Given the description of an element on the screen output the (x, y) to click on. 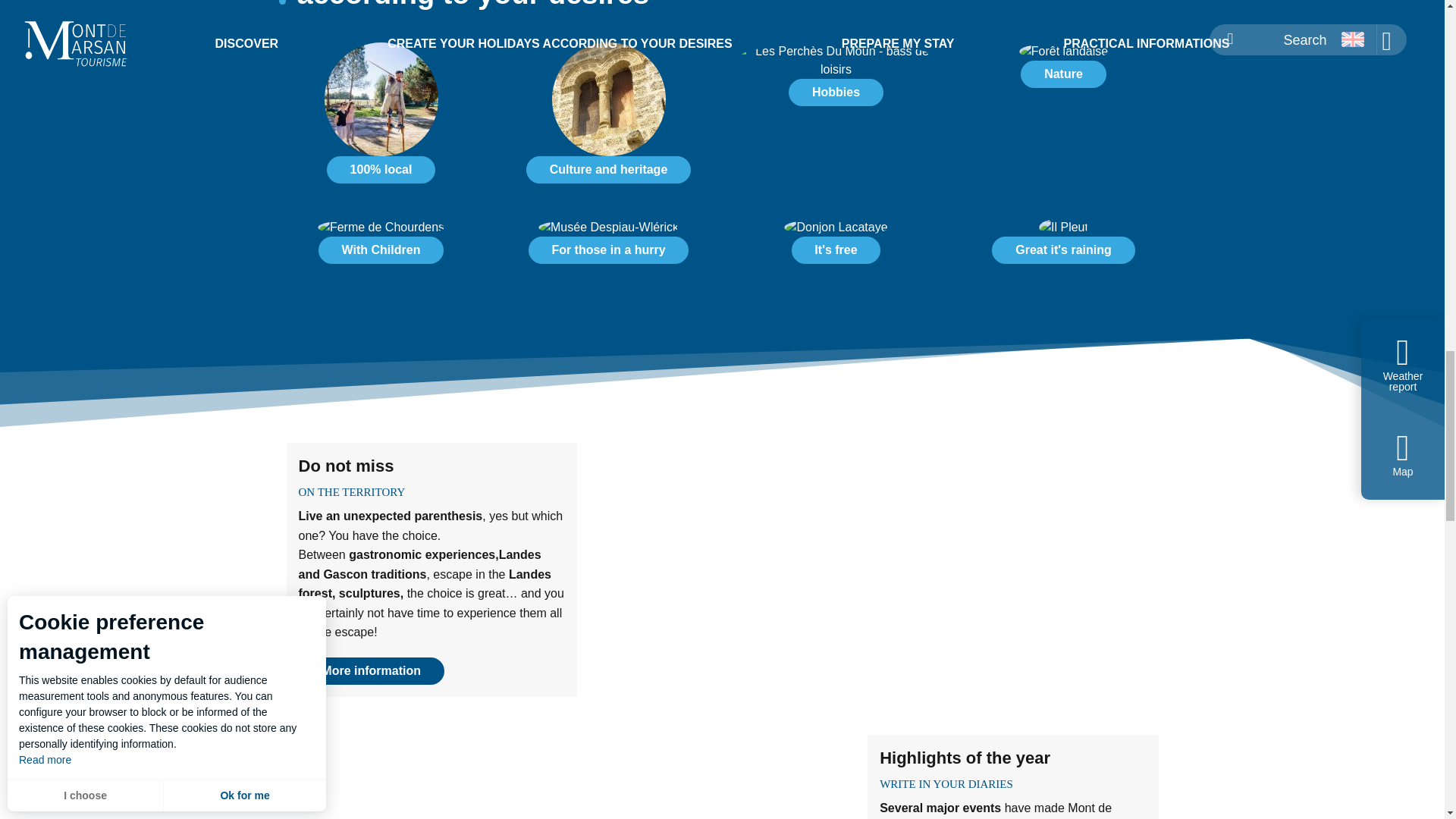
Nature (1062, 73)
It's free (836, 247)
Culture and heritage (607, 169)
Nature (1063, 70)
With Children (381, 249)
Nature (1063, 70)
With Children (381, 247)
With Children (381, 247)
It's free (836, 247)
Great it's raining (1063, 247)
For those in a hurry (608, 247)
Hobbies (836, 79)
Culture and heritage (608, 118)
Culture and heritage (608, 118)
Hobbies (836, 79)
